Given the description of an element on the screen output the (x, y) to click on. 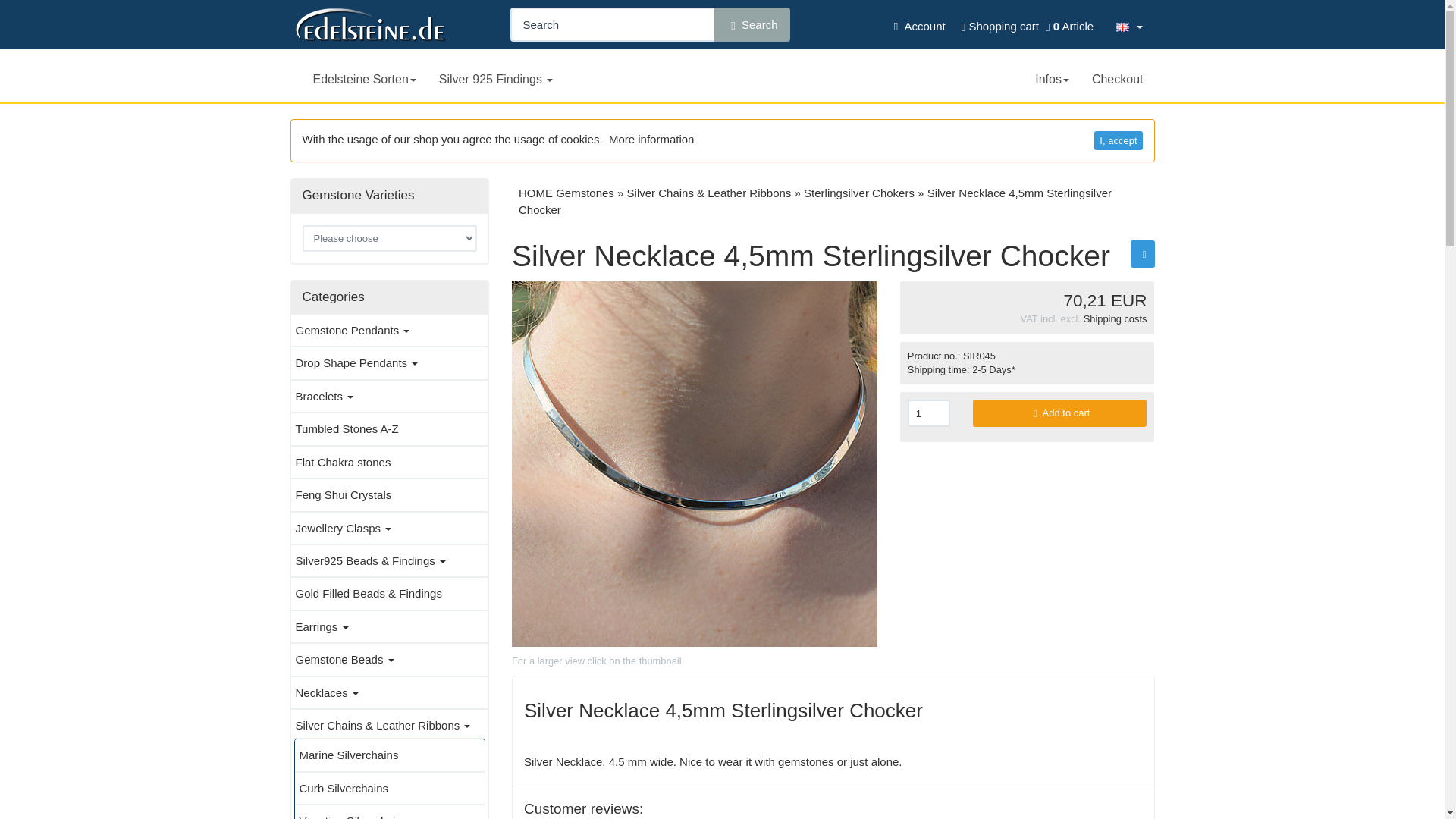
   Account (916, 25)
Tumbled Stones A-Z (390, 428)
Privacy Notice (651, 138)
Necklaces (390, 692)
Earrings (390, 626)
Bracelets (390, 396)
Flat Chakra stones (390, 462)
Drop Shape Pendants (390, 362)
Feng Shui Crystals (390, 494)
1 (928, 412)
  Search (752, 24)
Gemstone Pendants (390, 330)
Edelsteine Sorten (364, 75)
 Shopping cart  0 Article (1025, 25)
